Given the description of an element on the screen output the (x, y) to click on. 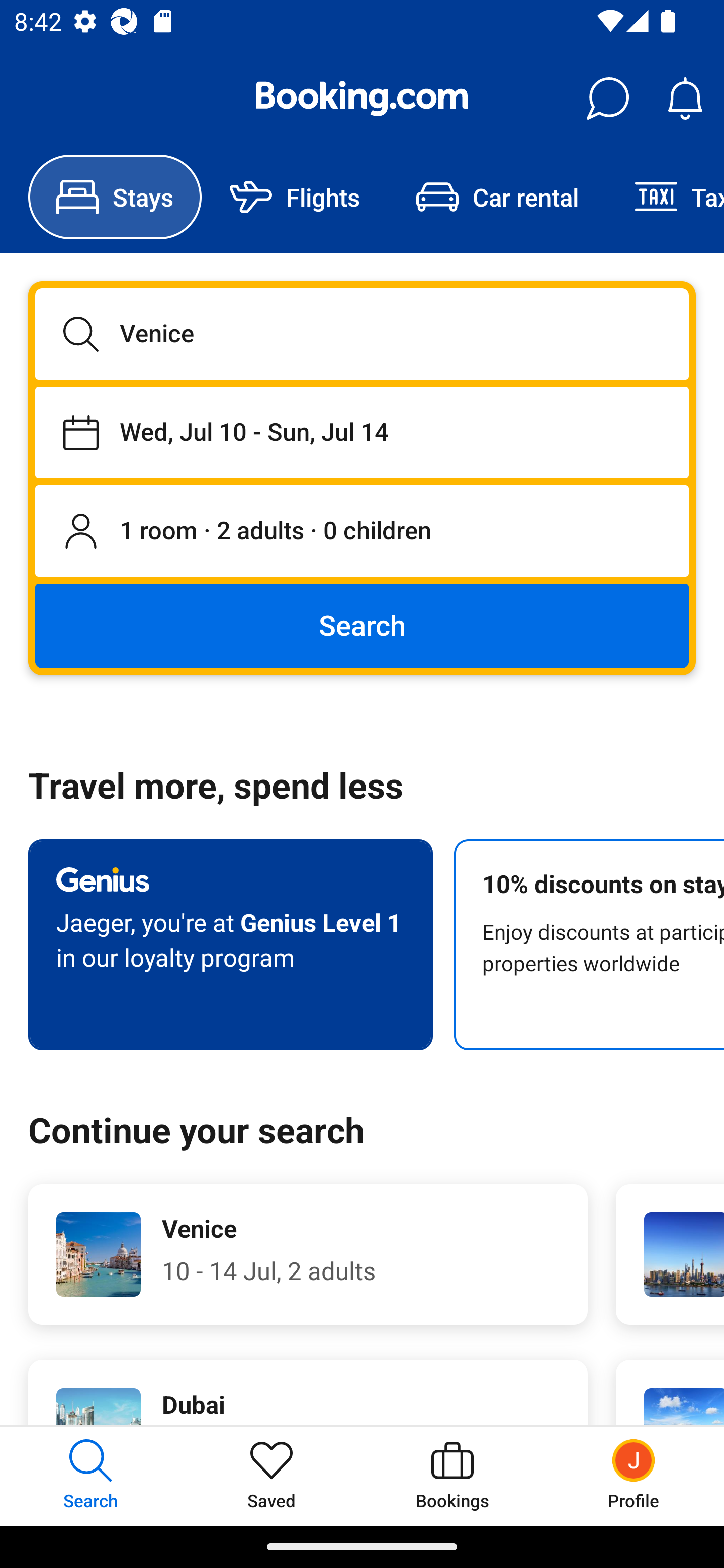
Messages (607, 98)
Notifications (685, 98)
Stays (114, 197)
Flights (294, 197)
Car rental (497, 197)
Taxi (665, 197)
Venice (361, 333)
Staying from Wed, Jul 10 until Sun, Jul 14 (361, 432)
1 room, 2 adults, 0 children (361, 531)
Search (361, 625)
Venice 10 - 14 Jul, 2 adults (307, 1253)
Saved (271, 1475)
Bookings (452, 1475)
Profile (633, 1475)
